Given the description of an element on the screen output the (x, y) to click on. 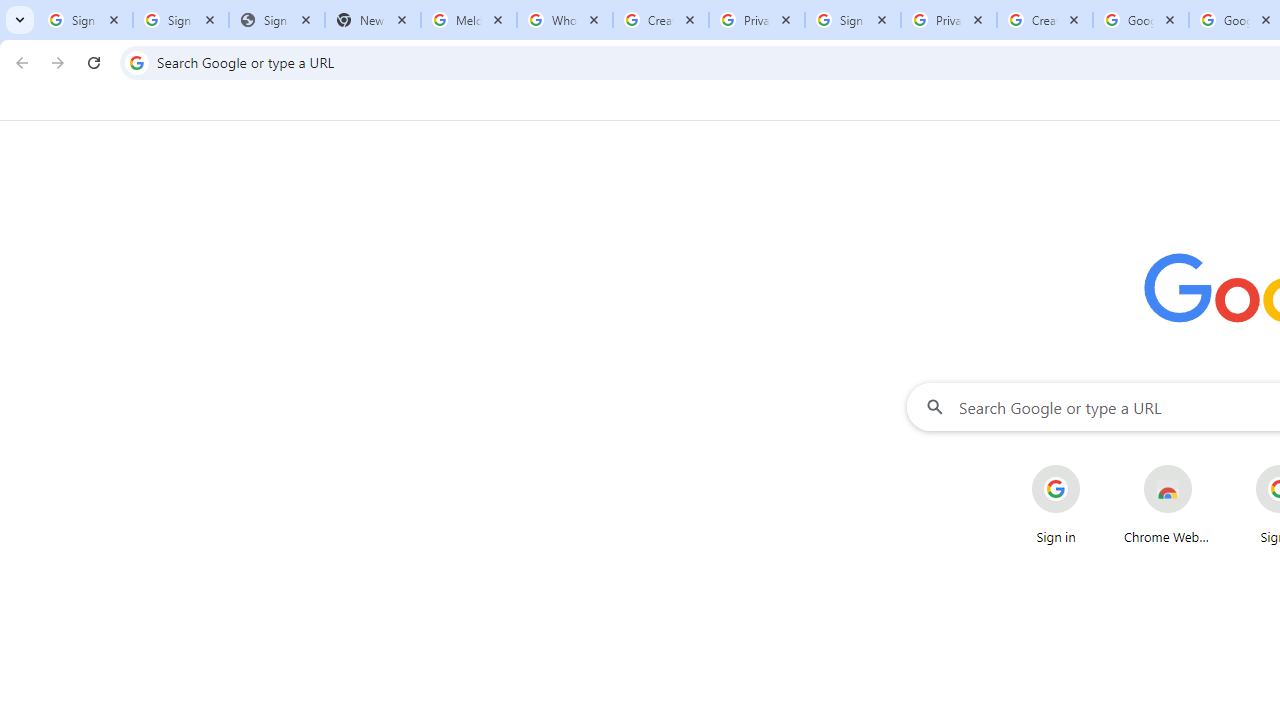
New Tab (373, 20)
Sign in - Google Accounts (85, 20)
Sign in - Google Accounts (181, 20)
Chrome Web Store (1167, 504)
